Given the description of an element on the screen output the (x, y) to click on. 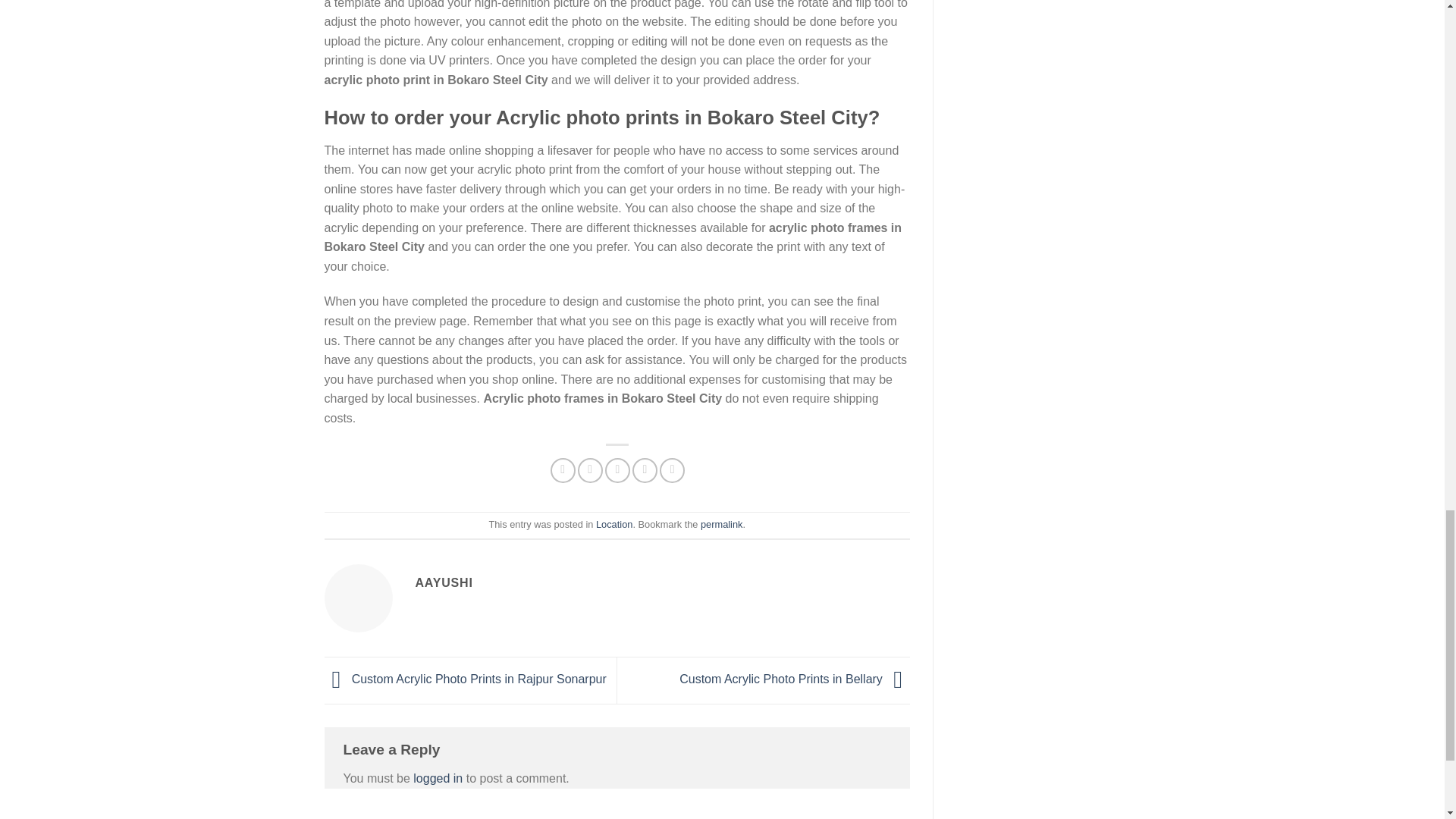
Pin on Pinterest (644, 470)
Email to a Friend (617, 470)
permalink (721, 523)
Share on Facebook (562, 470)
Share on LinkedIn (671, 470)
Location (613, 523)
Share on Twitter (590, 470)
